Given the description of an element on the screen output the (x, y) to click on. 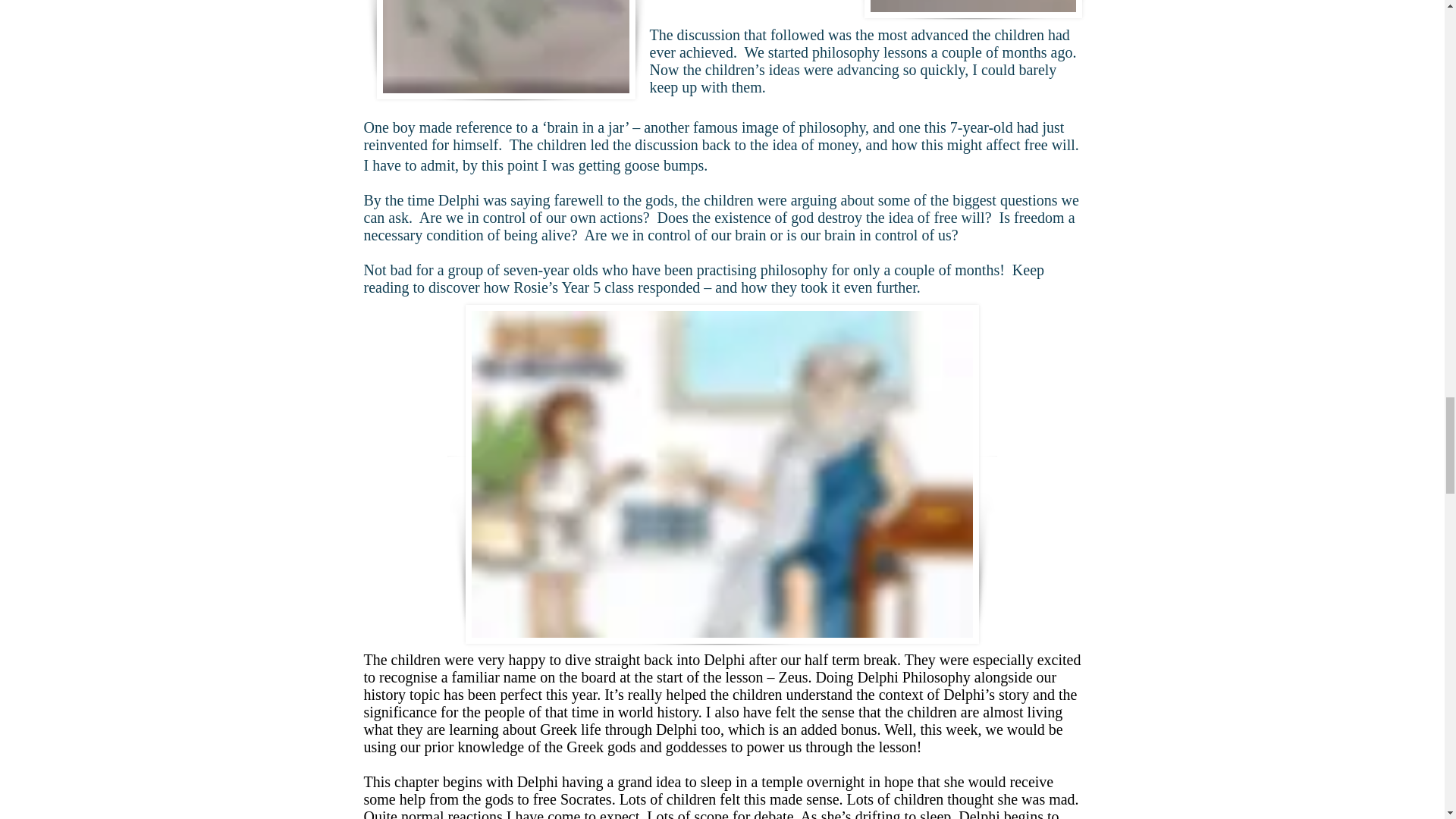
Freedom mind map (972, 9)
Class mind map (504, 49)
